Given the description of an element on the screen output the (x, y) to click on. 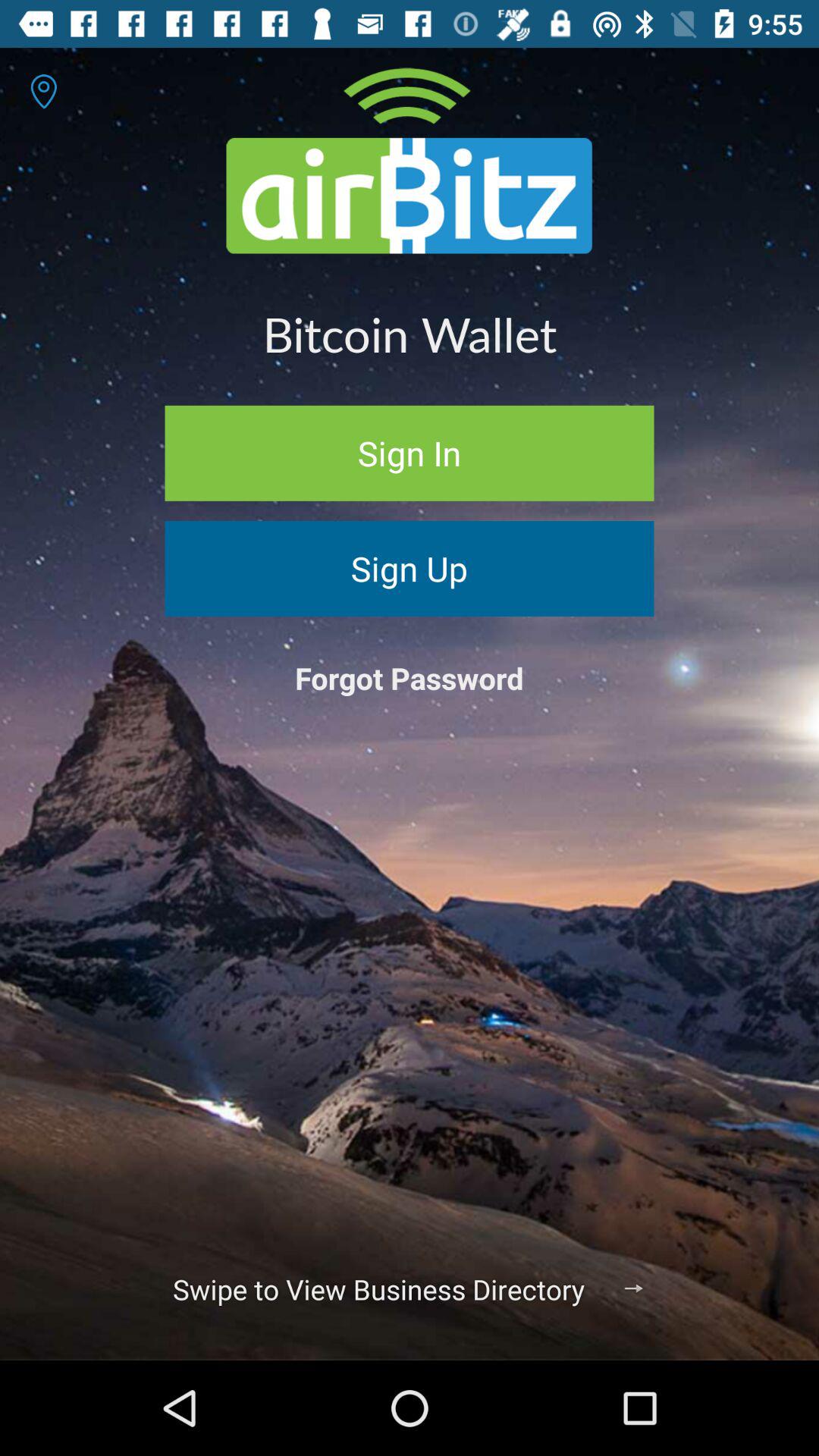
press the item below sign in icon (409, 568)
